Given the description of an element on the screen output the (x, y) to click on. 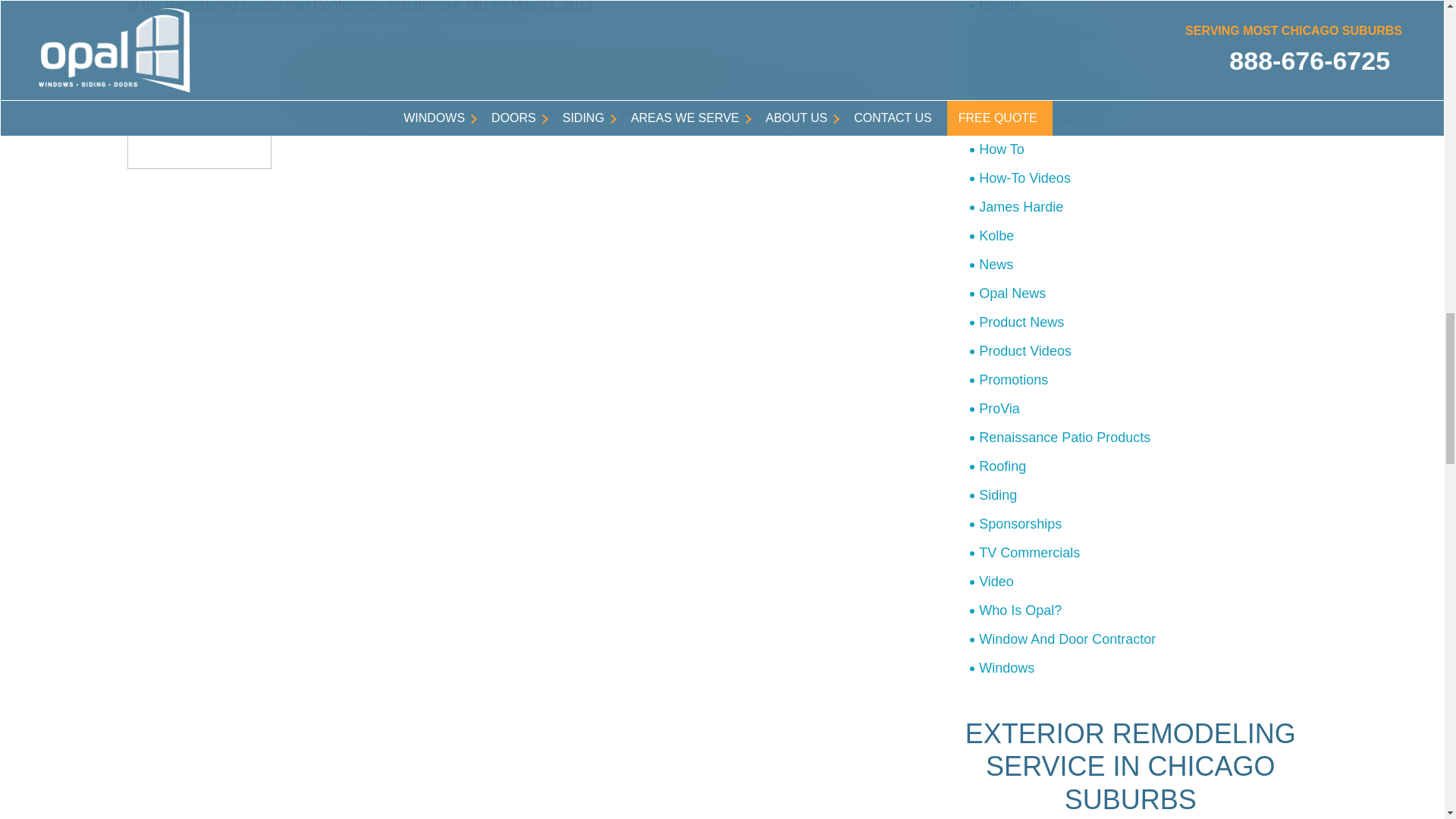
Events (1144, 9)
